Given the description of an element on the screen output the (x, y) to click on. 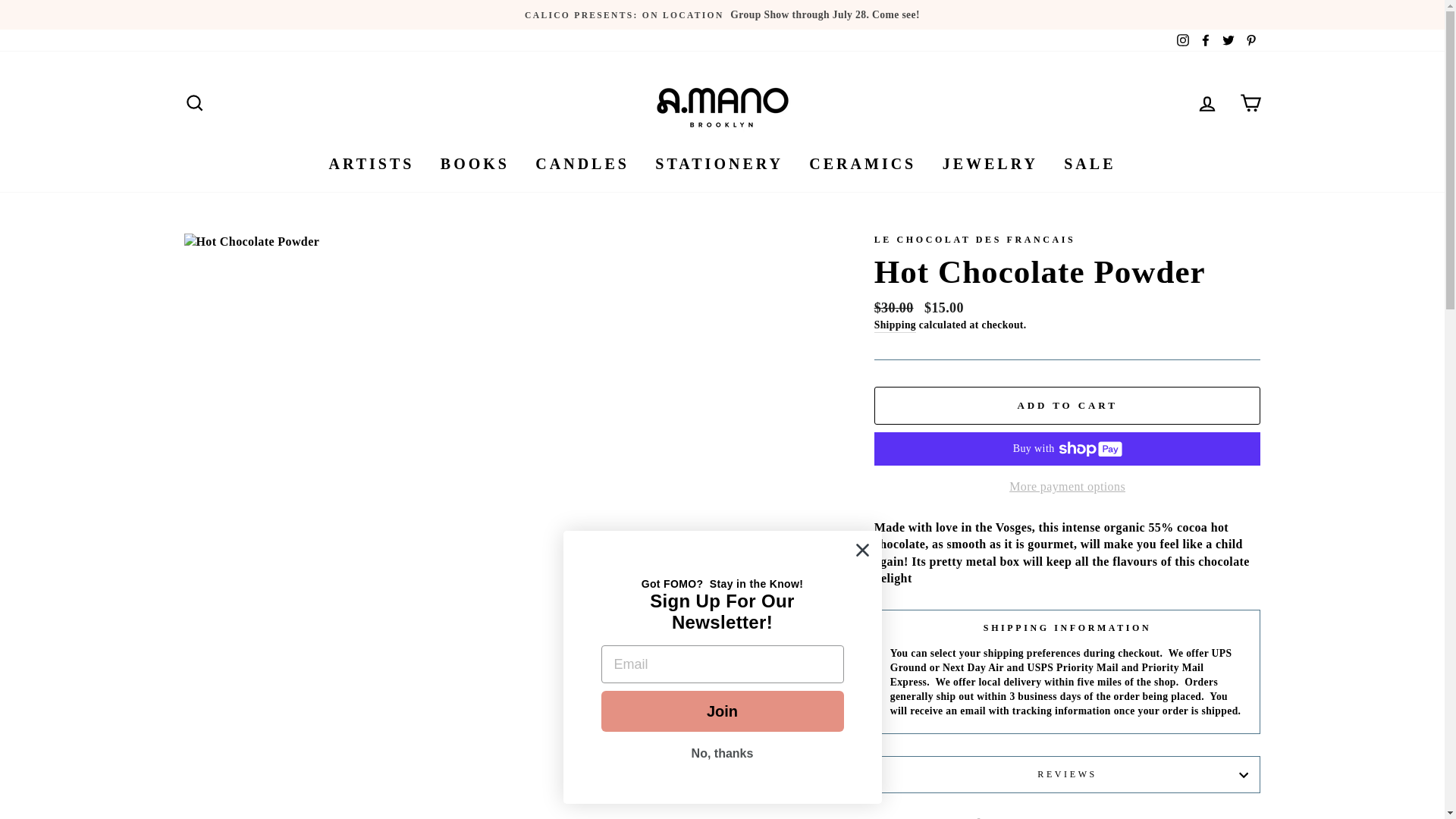
A.MANO Brooklyn on Instagram (1182, 40)
A.MANO Brooklyn on Facebook (1205, 40)
Tweet on Twitter (1067, 817)
A.MANO Brooklyn on Twitter (1228, 40)
A.MANO Brooklyn on Pinterest (1250, 40)
Share on Facebook (997, 817)
Pin on Pinterest (1136, 817)
